Given the description of an element on the screen output the (x, y) to click on. 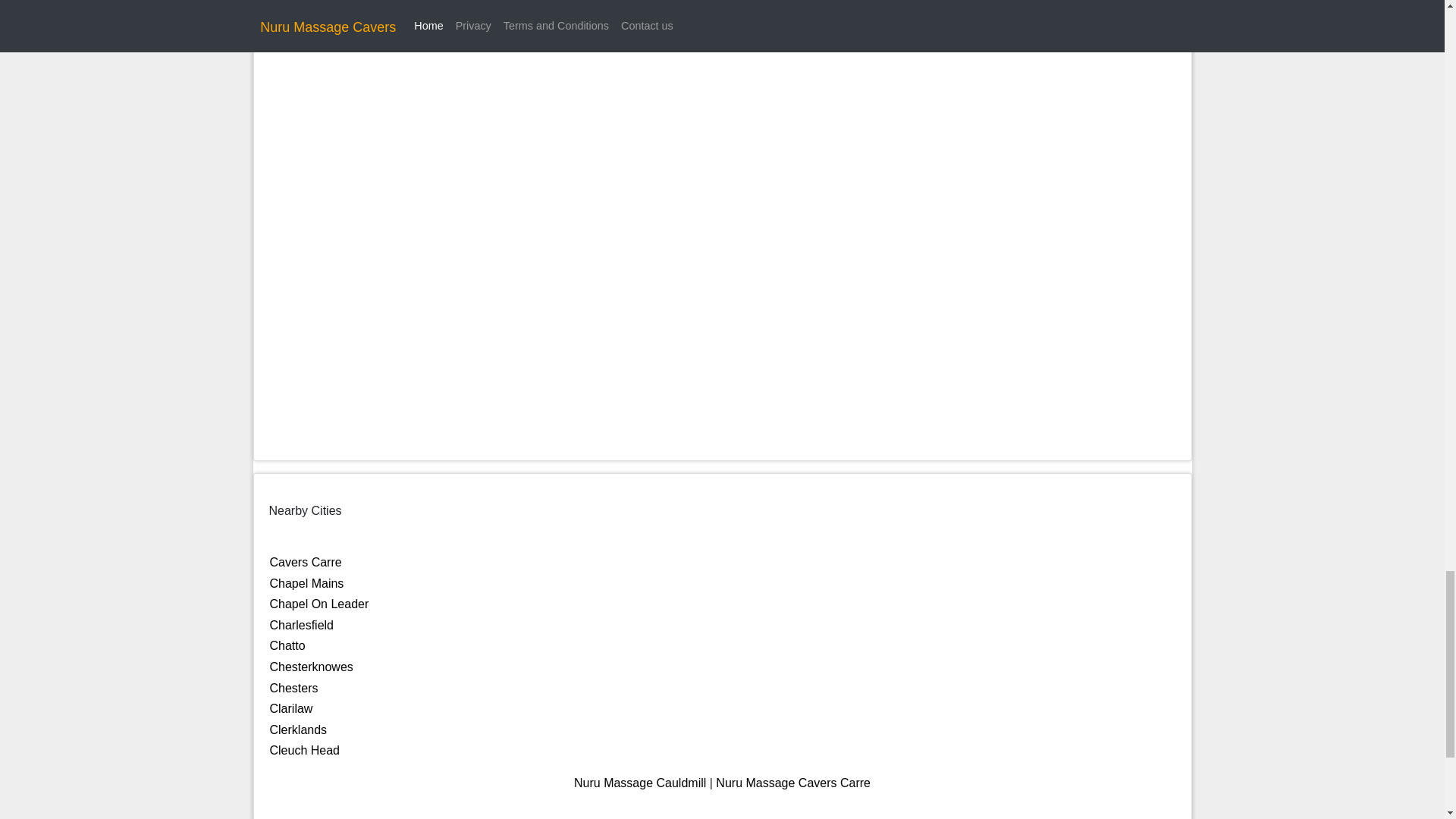
Nuru Massage Cauldmill (639, 782)
Cavers Carre (305, 562)
Charlesfield (301, 625)
Chapel On Leader (319, 603)
Chapel Mains (306, 583)
Chesterknowes (311, 666)
Clarilaw (291, 707)
Nuru Massage Cavers Carre (793, 782)
Chesters (293, 687)
Cleuch Head (304, 749)
